Given the description of an element on the screen output the (x, y) to click on. 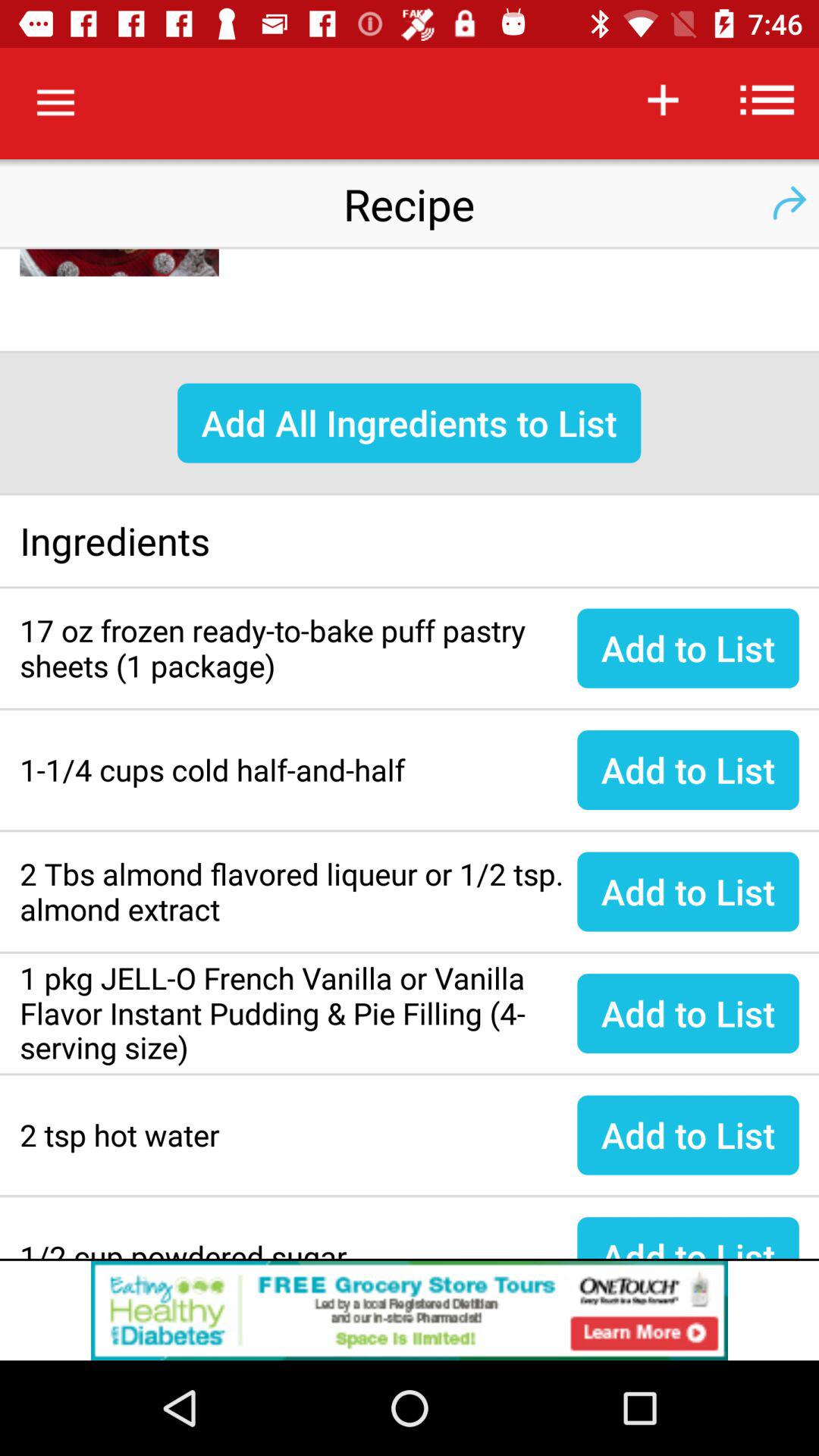
open advertisement (409, 1310)
